Given the description of an element on the screen output the (x, y) to click on. 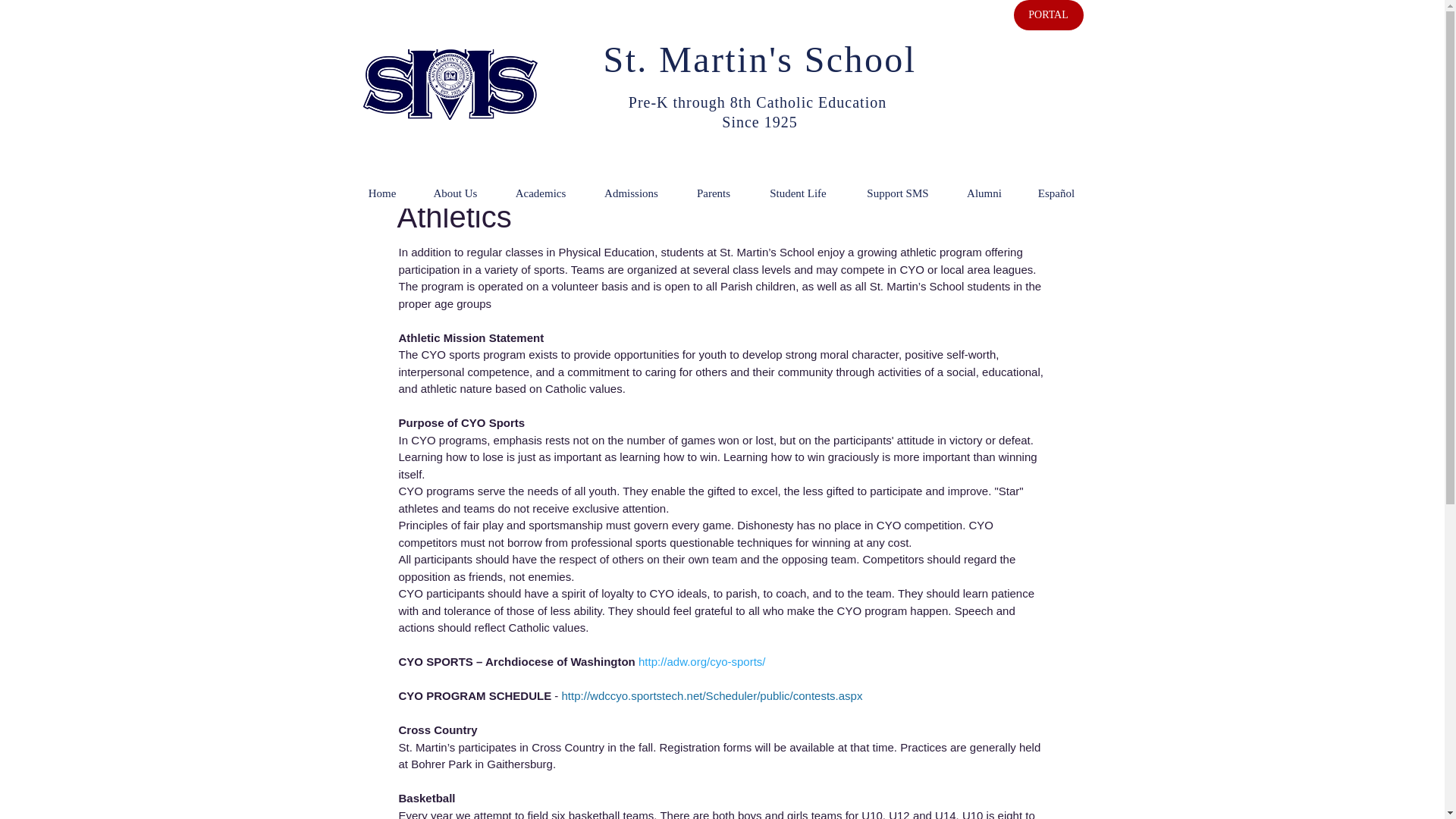
PORTAL (1048, 15)
Home (382, 193)
St. Martin's School (760, 59)
CYO SPORTS (437, 661)
CYO PROGRAM SCHEDULE (474, 695)
